Given the description of an element on the screen output the (x, y) to click on. 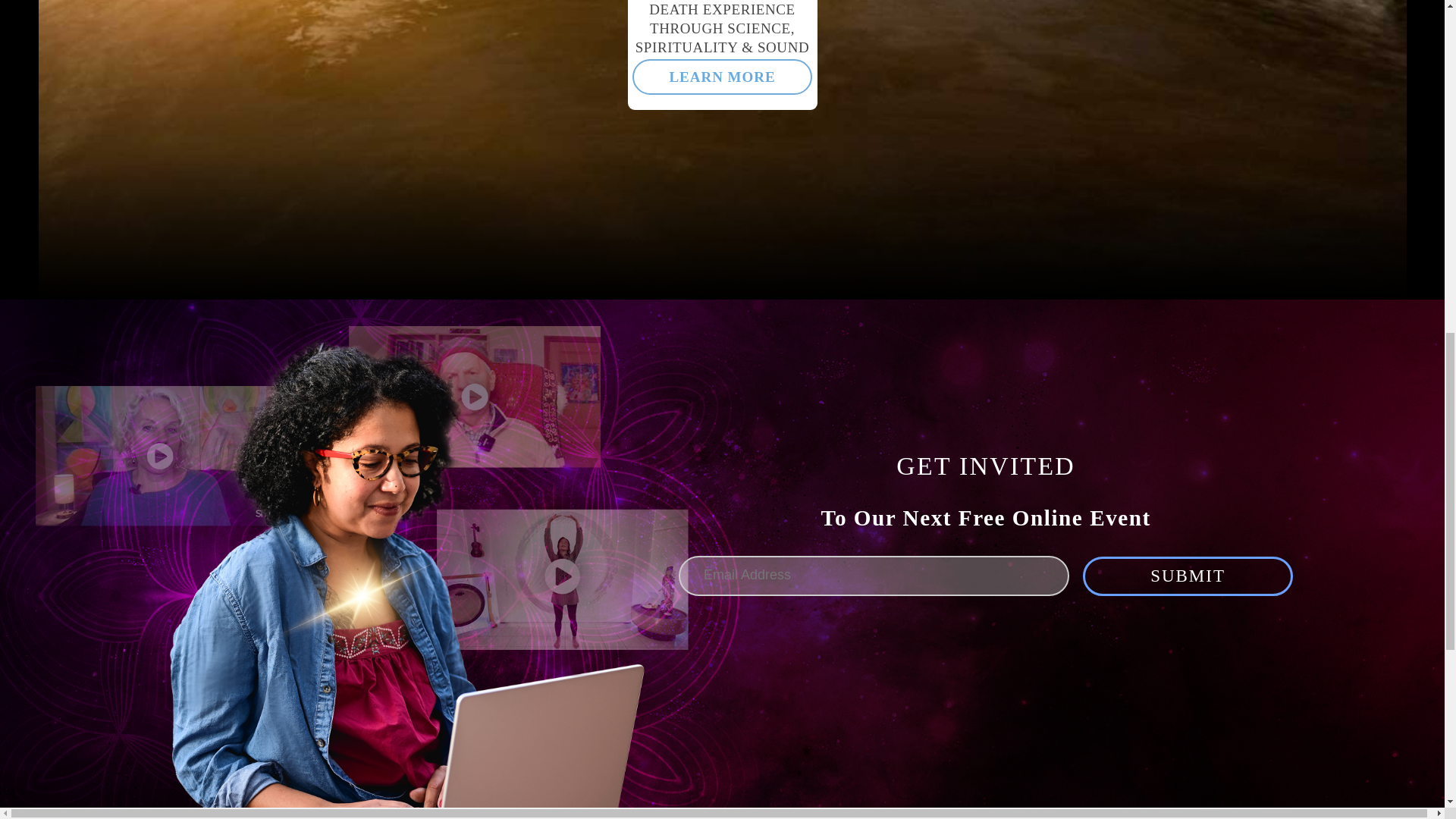
LEARN MORE (721, 76)
SUBMIT (1187, 576)
Email Address (873, 576)
